Given the description of an element on the screen output the (x, y) to click on. 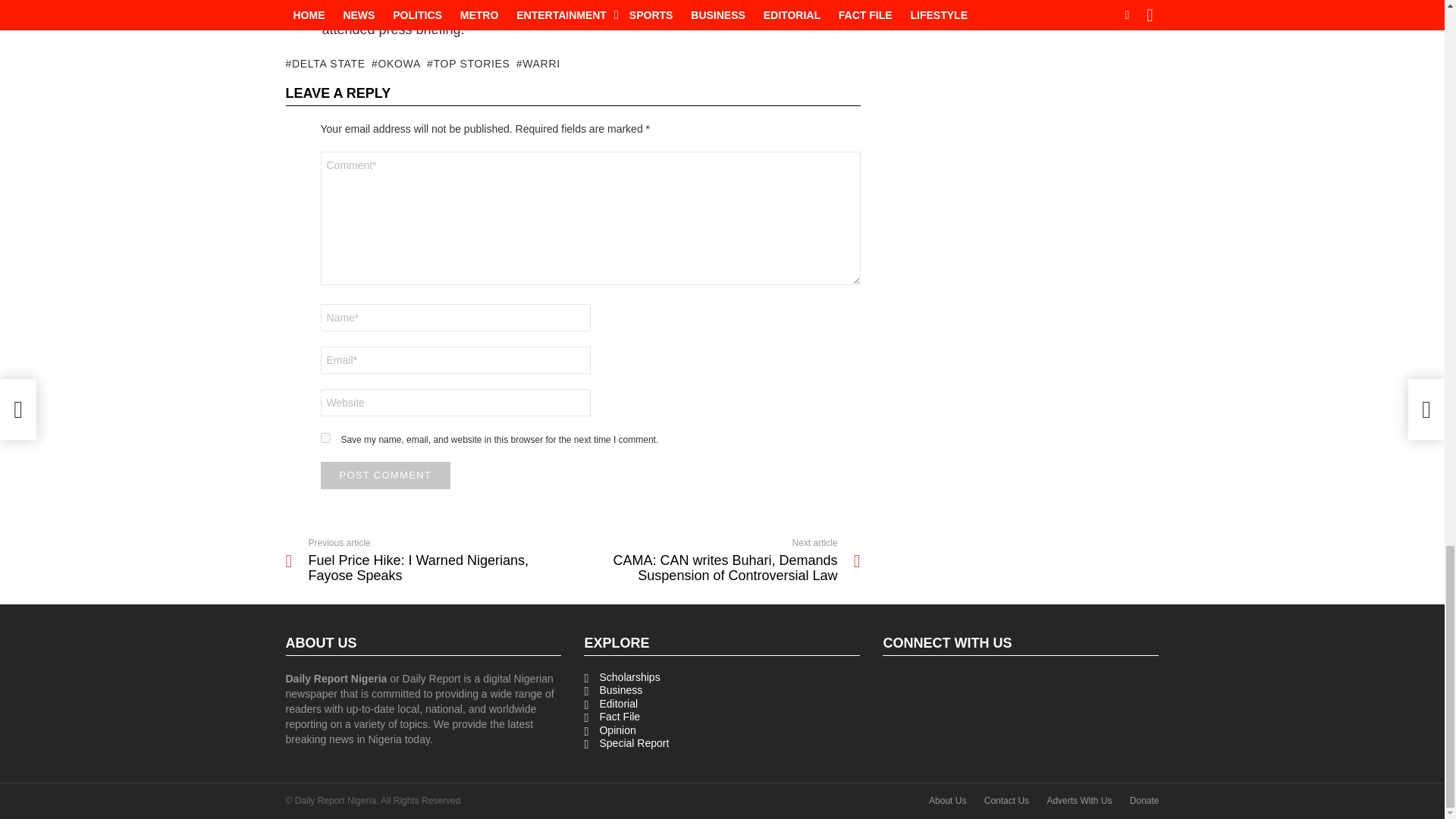
yes (325, 438)
Post Comment (384, 474)
